Given the description of an element on the screen output the (x, y) to click on. 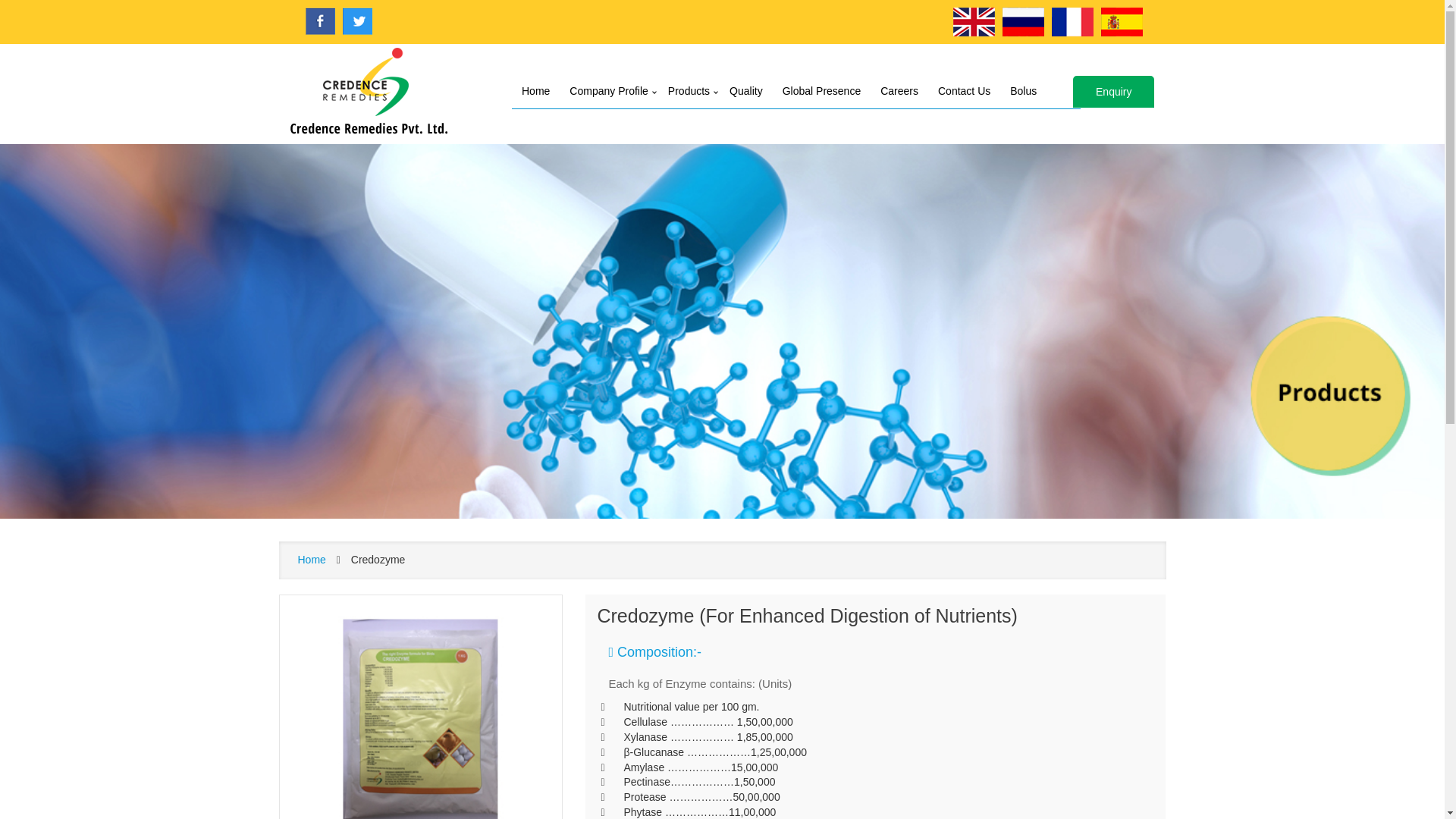
Company Profile (608, 91)
Products (688, 91)
Home (535, 91)
